Given the description of an element on the screen output the (x, y) to click on. 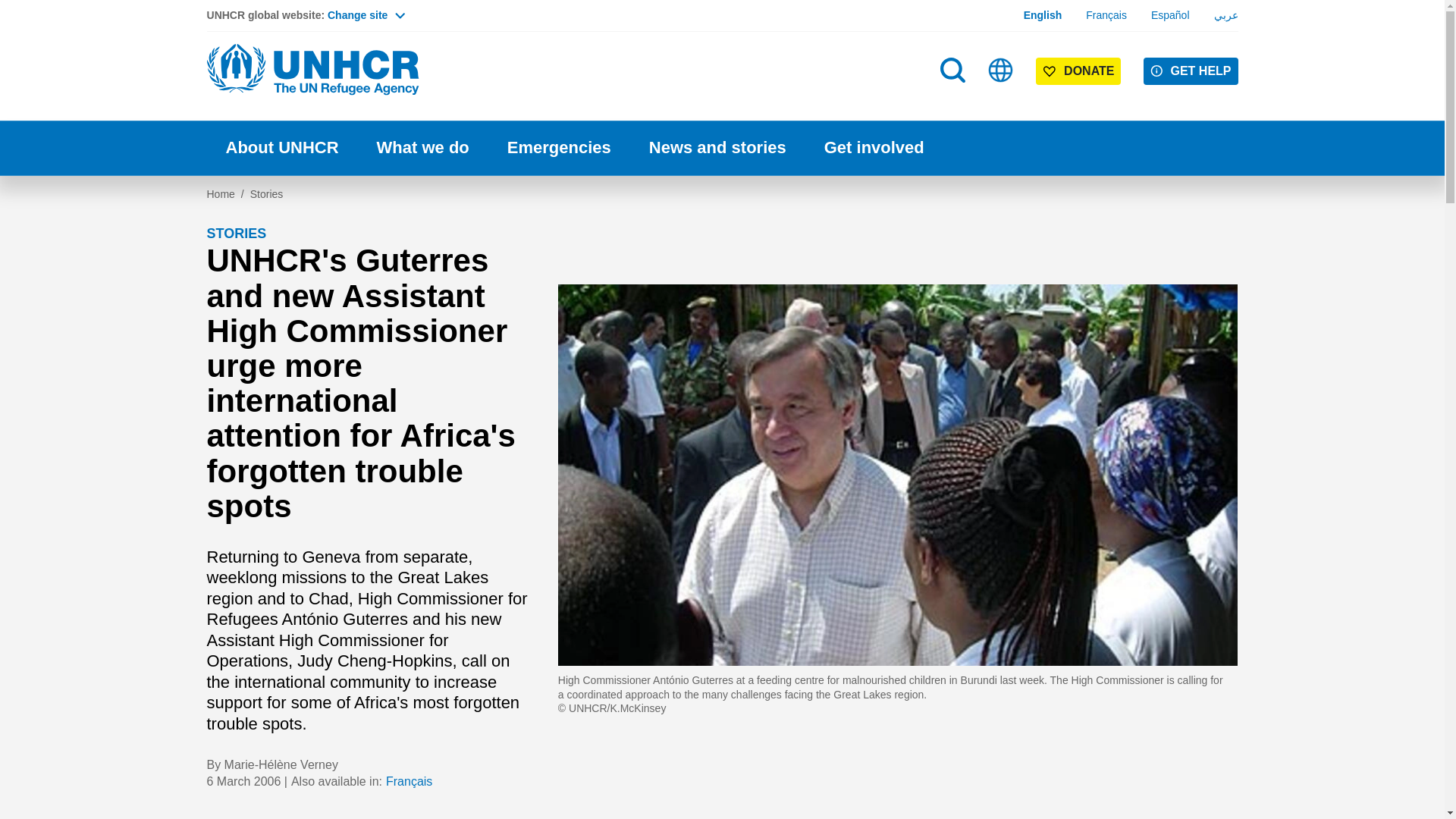
Search (952, 69)
Change site (365, 15)
DONATE (1078, 71)
Home (312, 69)
Sites (1000, 69)
Skip to main content (721, 1)
About UNHCR (281, 148)
English (1042, 15)
GET HELP (1189, 71)
Search (954, 99)
